Given the description of an element on the screen output the (x, y) to click on. 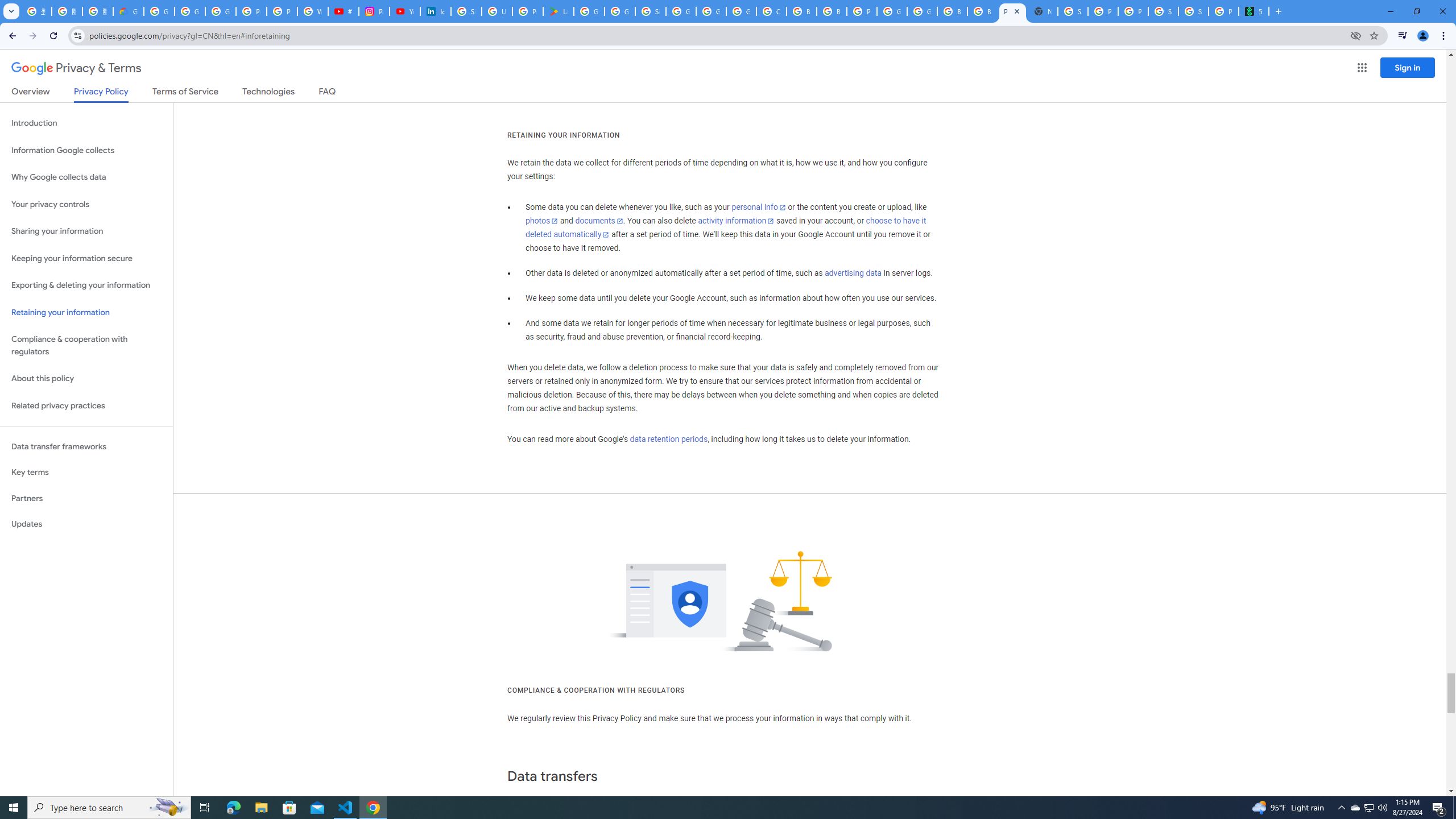
Sharing your information (86, 230)
Introduction (86, 122)
Control your music, videos, and more (1402, 35)
FAQ (327, 93)
Sign in - Google Accounts (1072, 11)
Compliance & cooperation with regulators (86, 345)
documents (599, 221)
advertising data (852, 273)
